Given the description of an element on the screen output the (x, y) to click on. 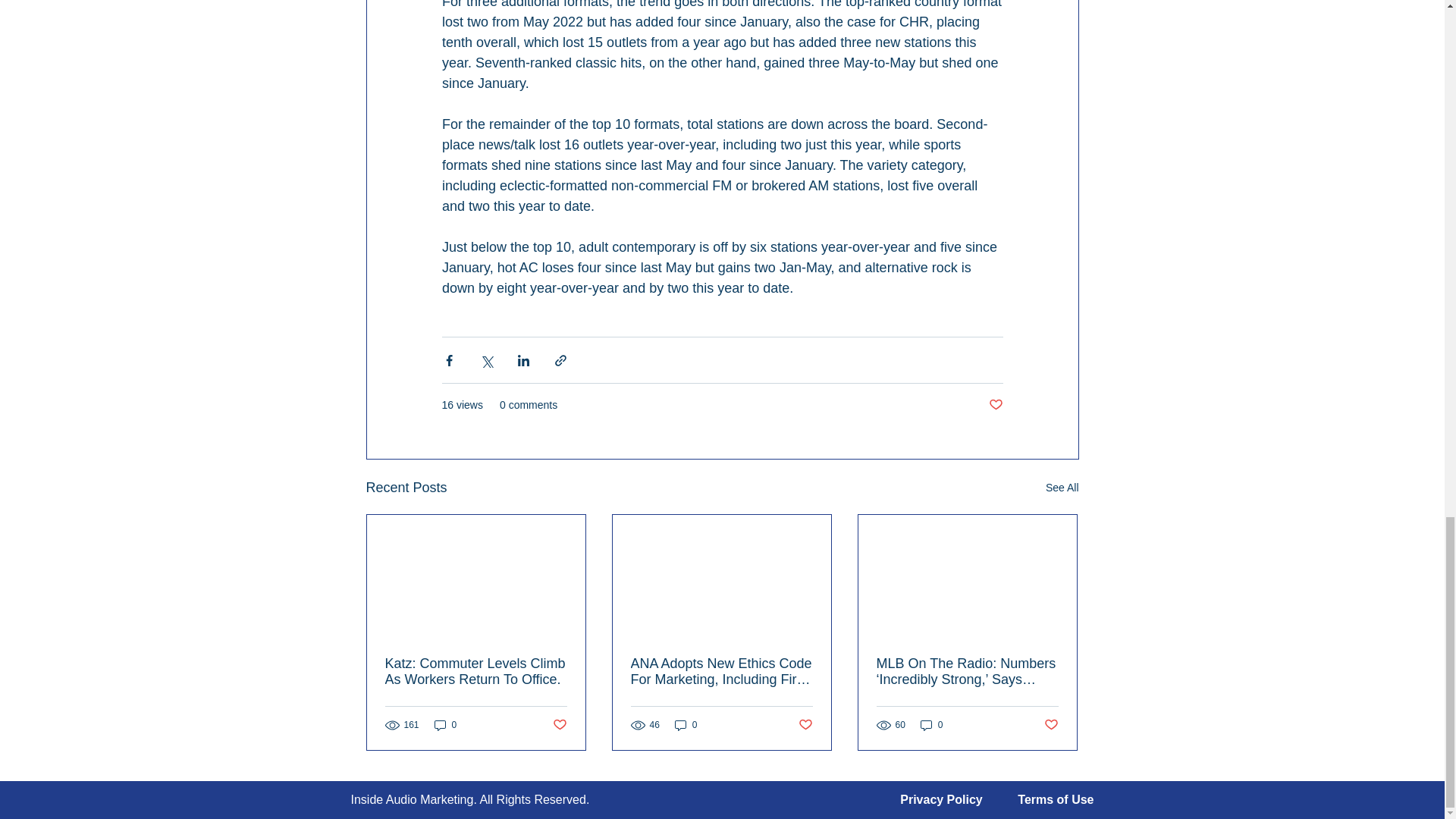
Katz: Commuter Levels Climb As Workers Return To Office. (476, 671)
0 (931, 725)
See All (1061, 487)
Post not marked as liked (1050, 725)
Privacy Policy (940, 799)
Post not marked as liked (804, 725)
Inside Audio Marketing. All Rights Reserved. (469, 799)
0 (685, 725)
Post not marked as liked (995, 405)
Terms of Use (1055, 799)
0 (445, 725)
Post not marked as liked (558, 725)
